Given the description of an element on the screen output the (x, y) to click on. 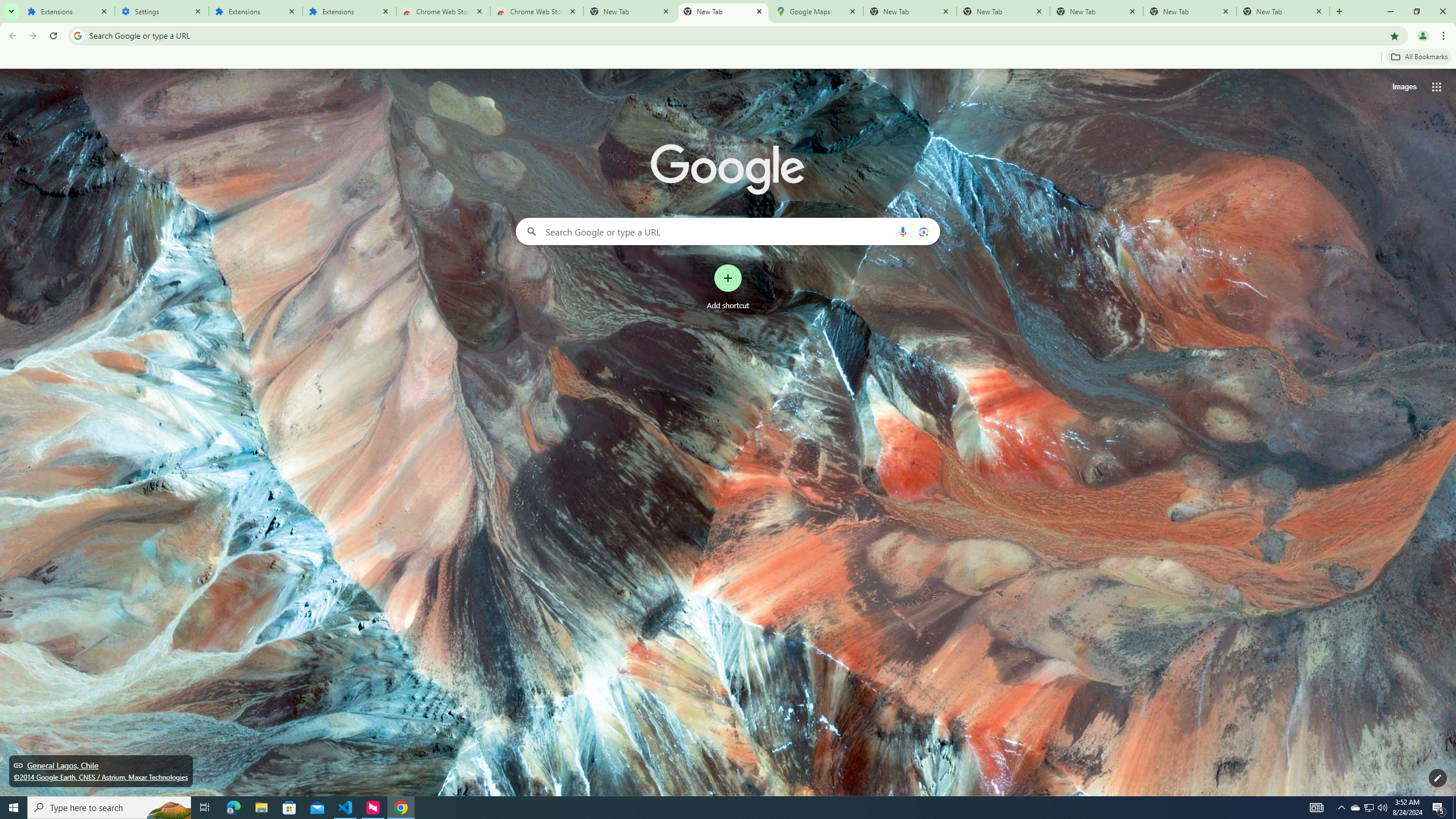
Chrome Web Store - Themes (536, 11)
Extensions (67, 11)
Chrome Web Store (443, 11)
